Given the description of an element on the screen output the (x, y) to click on. 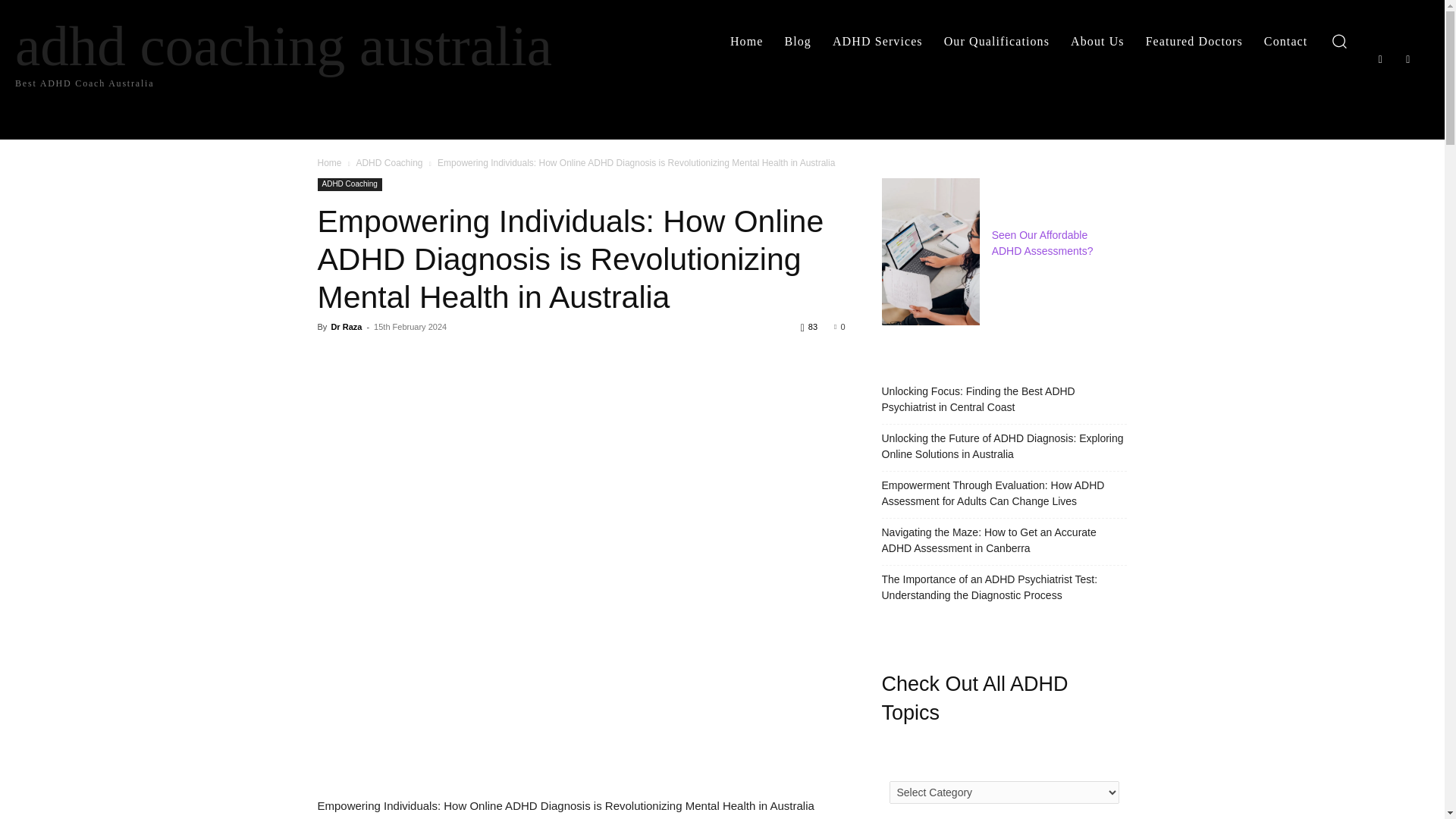
Home (328, 163)
ADHD Coaching (349, 183)
Dr Raza (345, 325)
View all posts in ADHD Coaching (388, 163)
Featured Doctors (242, 51)
Blog (1194, 40)
Facebook (797, 40)
Contact (1380, 58)
ADHD Services (1285, 40)
